Given the description of an element on the screen output the (x, y) to click on. 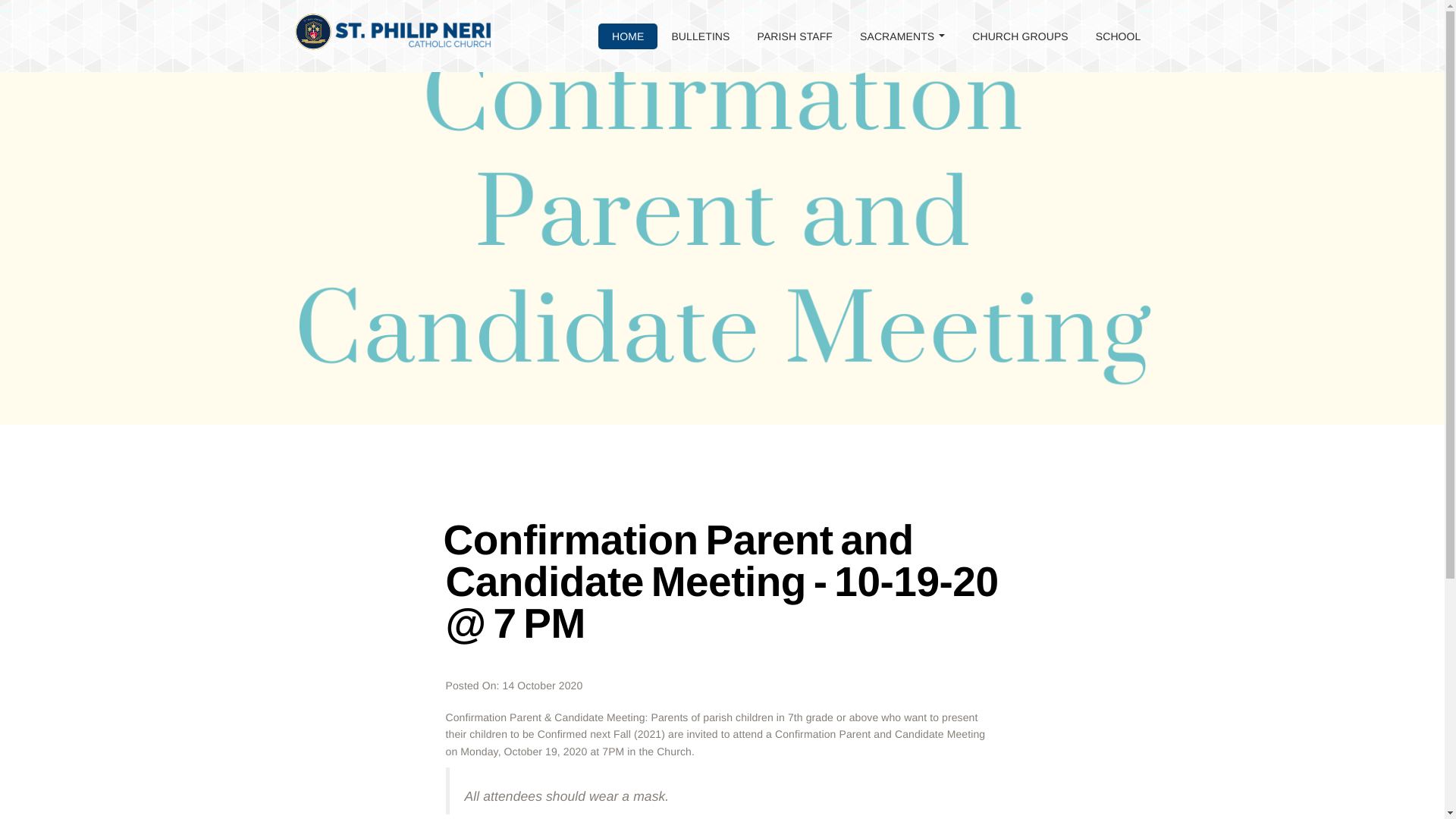
BULLETINS (700, 36)
HOME (628, 36)
SACRAMENTS (901, 36)
PARISH STAFF (794, 36)
SCHOOL (1117, 36)
CHURCH GROUPS (1019, 36)
